Given the description of an element on the screen output the (x, y) to click on. 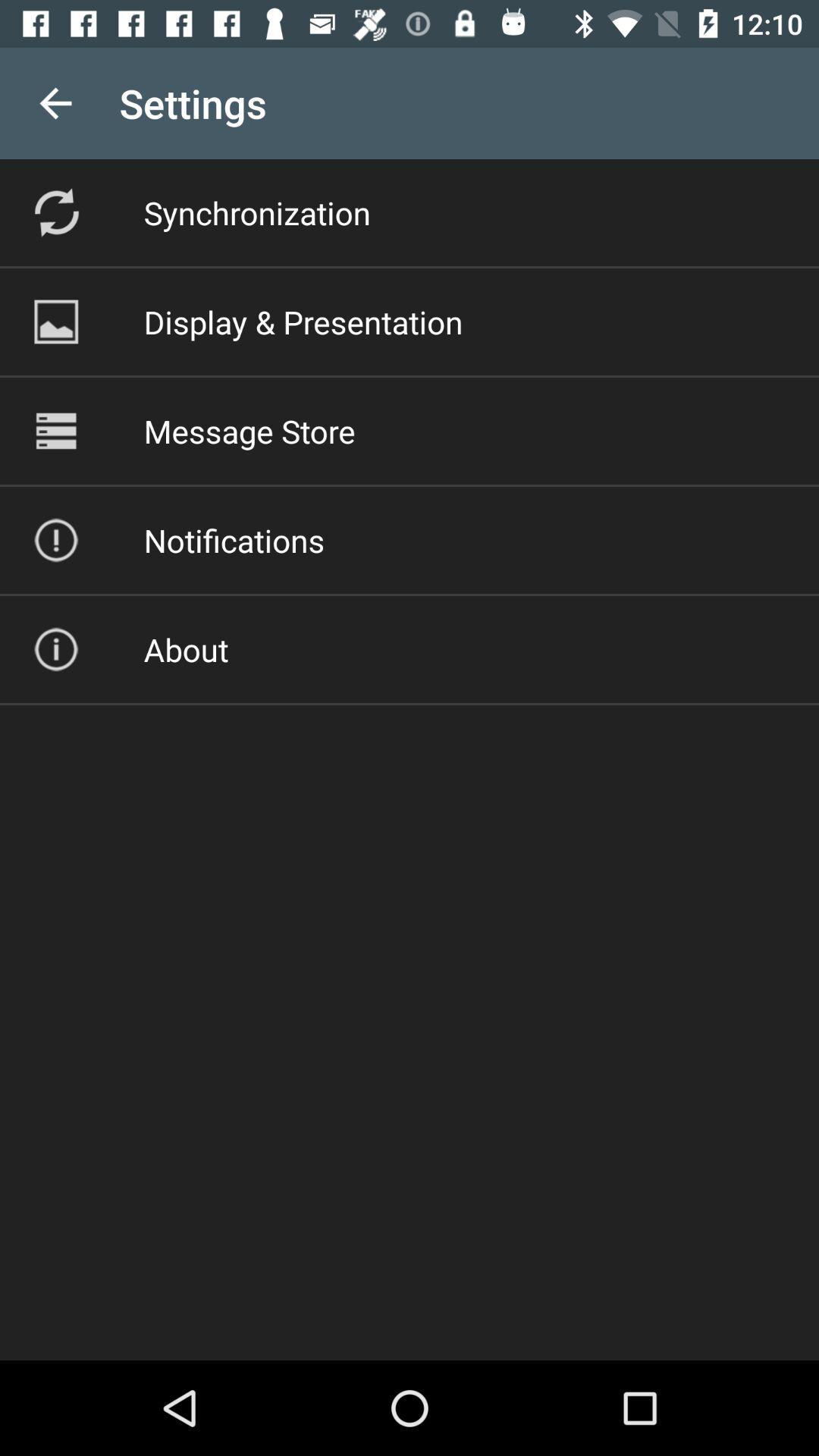
turn on the notifications (233, 539)
